Given the description of an element on the screen output the (x, y) to click on. 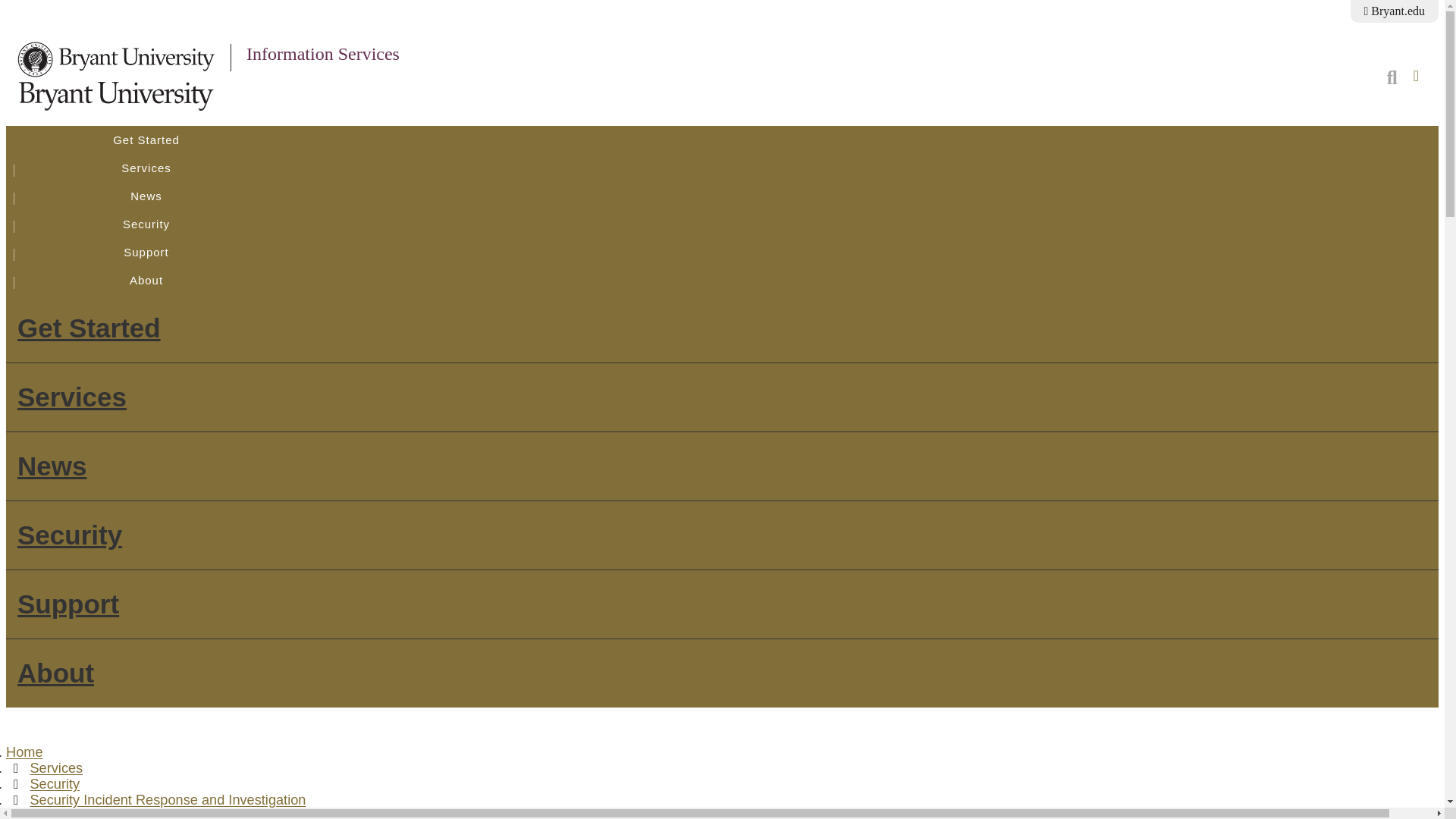
Get Started (146, 139)
Home (116, 90)
Home (322, 53)
Security (54, 783)
Home (24, 752)
Support (68, 603)
Get Started (88, 327)
Security Incident Response (112, 813)
Security (69, 534)
Services (146, 167)
